Given the description of an element on the screen output the (x, y) to click on. 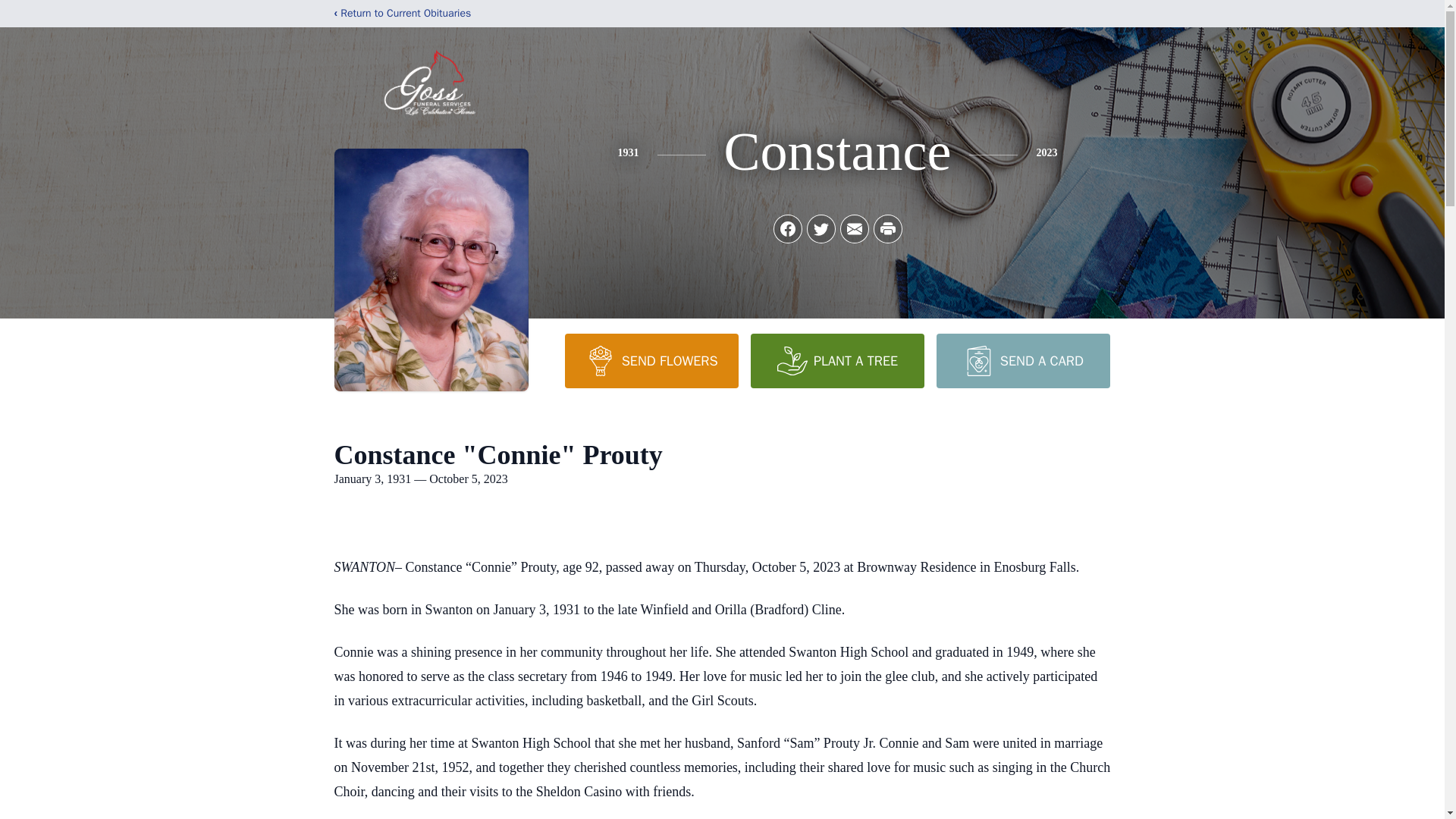
SEND A CARD (1022, 360)
SEND FLOWERS (651, 360)
PLANT A TREE (837, 360)
